Given the description of an element on the screen output the (x, y) to click on. 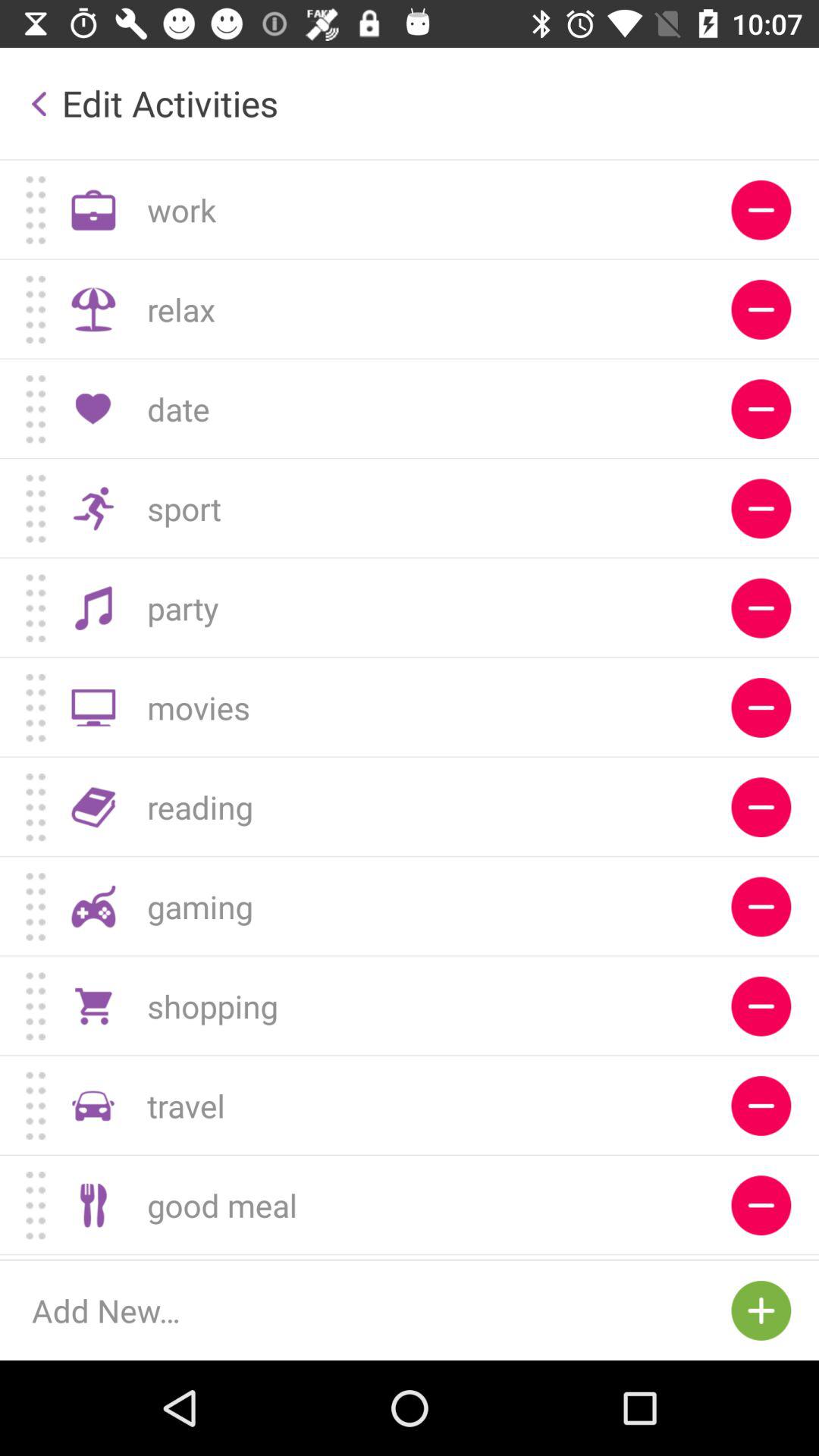
turn off selection (761, 608)
